Given the description of an element on the screen output the (x, y) to click on. 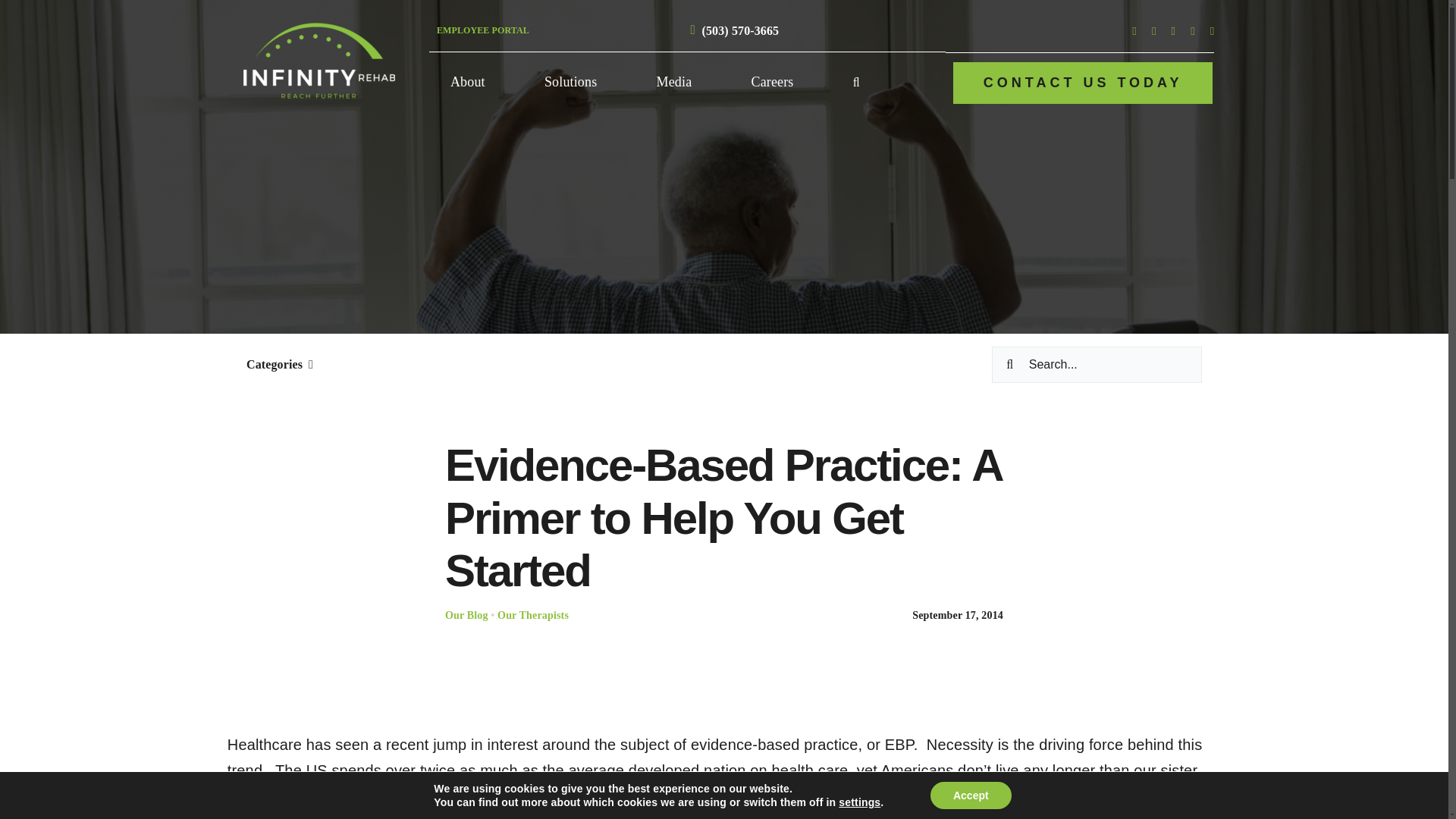
About (467, 83)
Solutions (570, 83)
Our Blog (466, 614)
Careers (773, 83)
Our Therapists (533, 614)
EMPLOYEE PORTAL (483, 30)
Media (674, 83)
